Given the description of an element on the screen output the (x, y) to click on. 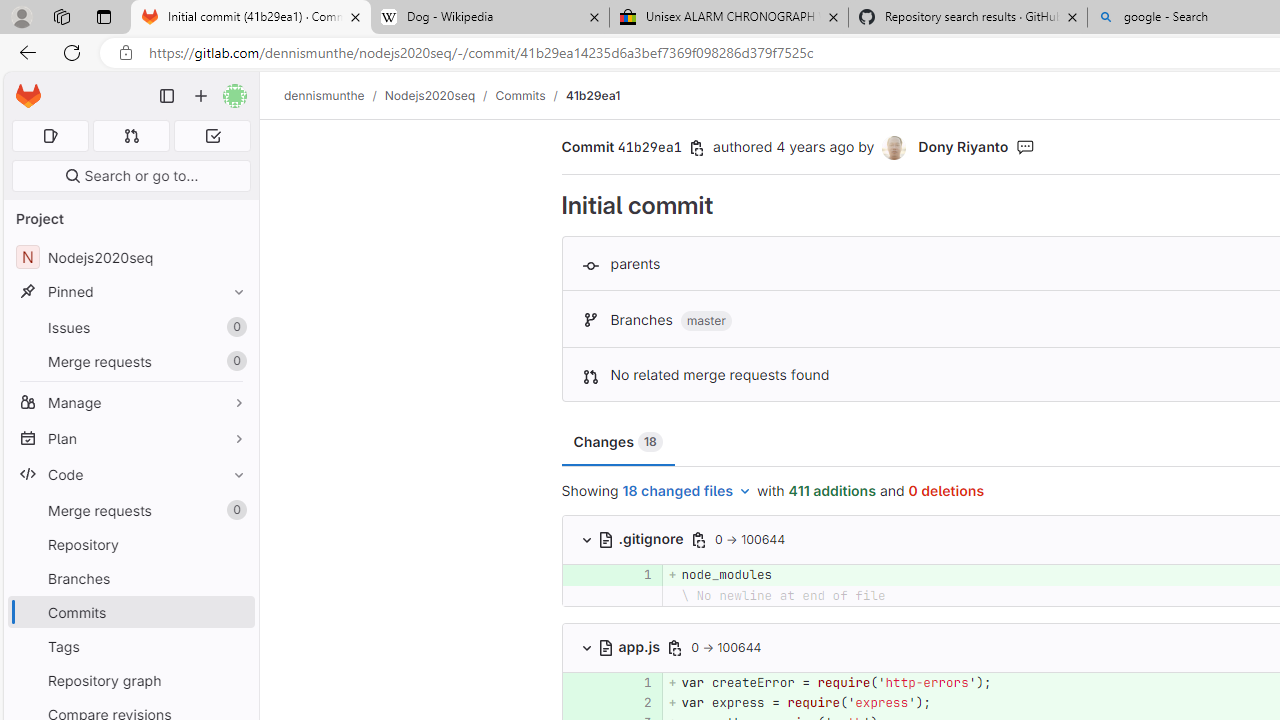
dennismunthe (324, 95)
Unpin Merge requests (234, 510)
Nodejs2020seq (430, 95)
Workspaces (61, 16)
Primary navigation sidebar (167, 96)
Class: s16 chevron-down (586, 647)
Copy commit SHA (697, 148)
Pin Tags (234, 646)
Class: s16 (605, 647)
Pin Repository (234, 544)
NNodejs2020seq (130, 257)
Repository graph (130, 679)
Assigned issues 0 (50, 136)
Repository (130, 543)
